Given the description of an element on the screen output the (x, y) to click on. 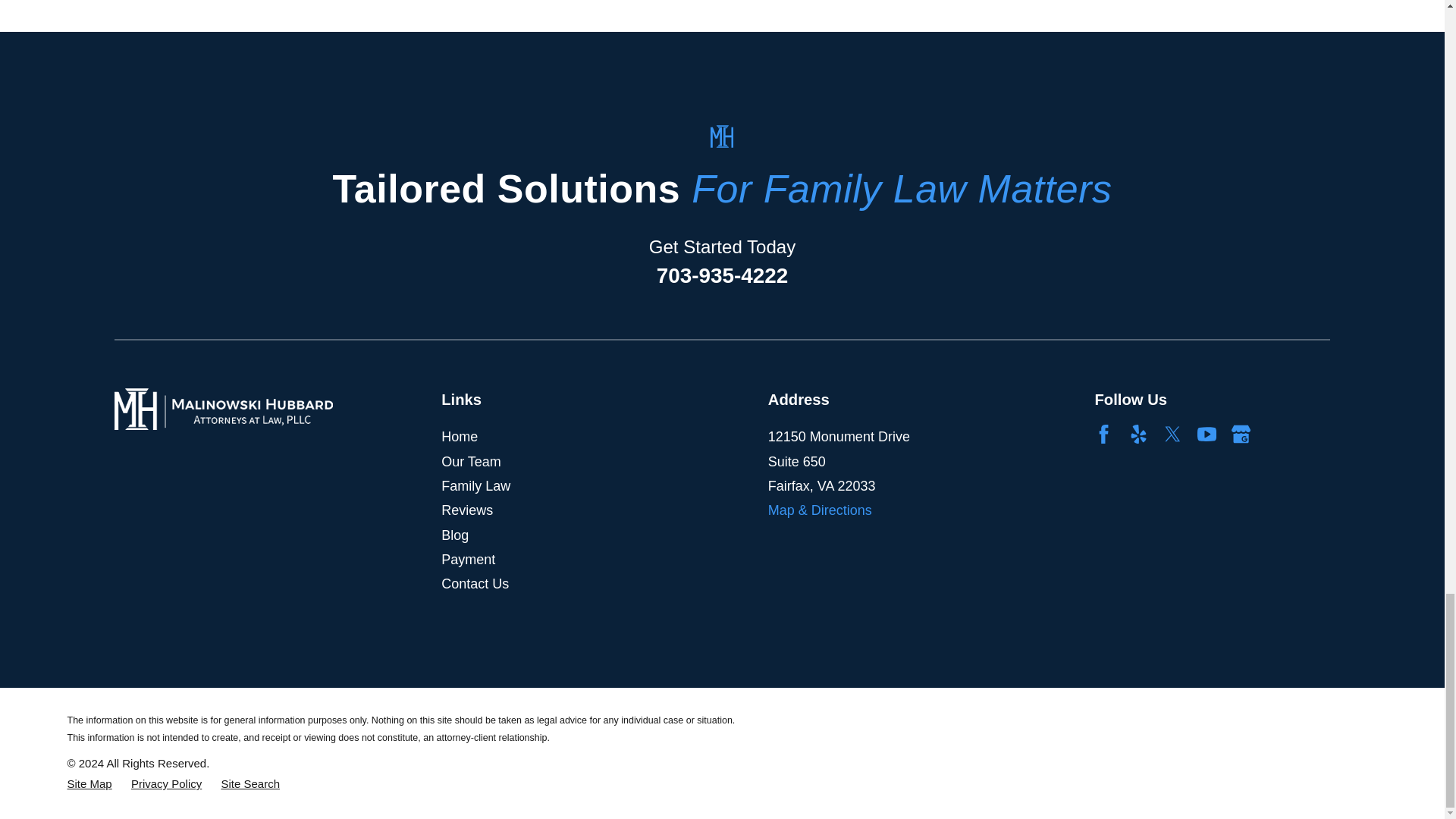
Home (224, 408)
Facebook (1103, 434)
Yelp (1138, 434)
Twitter (1172, 434)
